Given the description of an element on the screen output the (x, y) to click on. 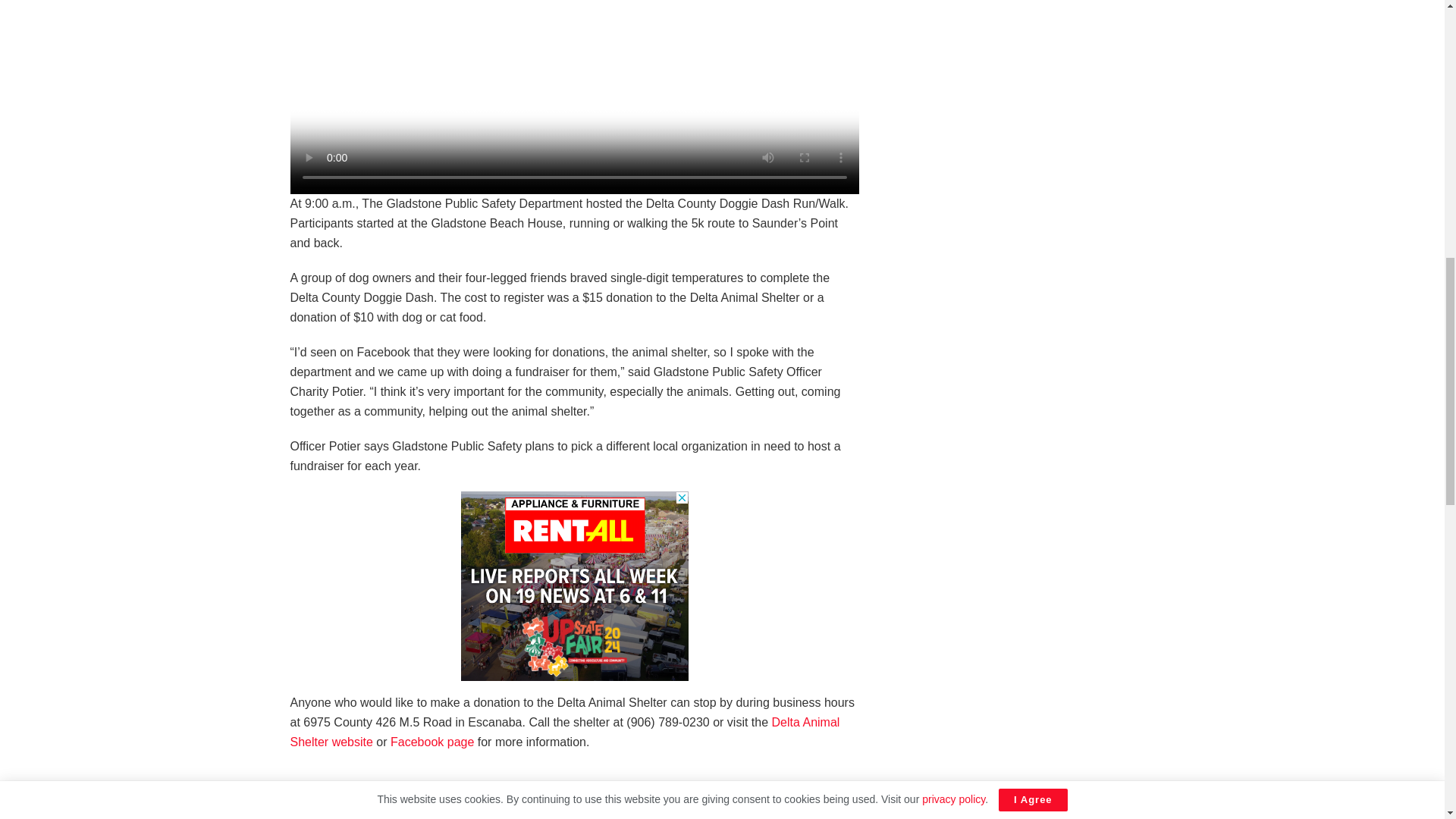
3rd party ad content (574, 585)
